Given the description of an element on the screen output the (x, y) to click on. 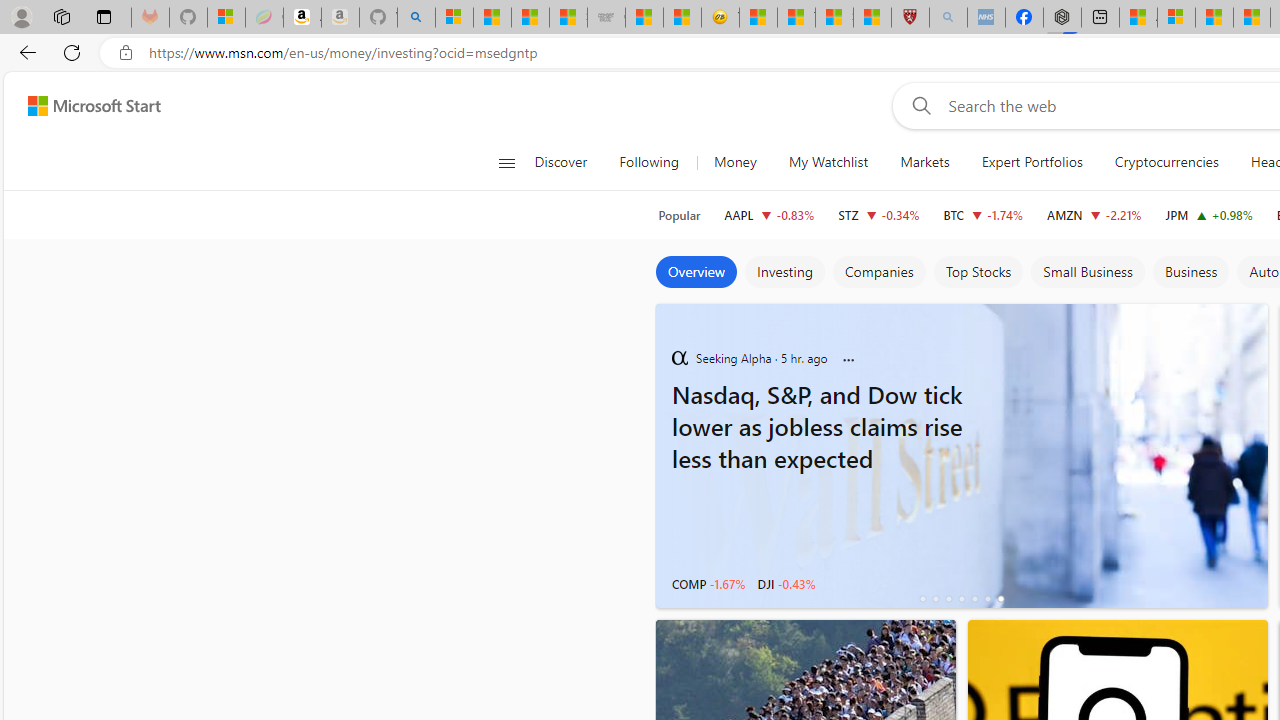
Microsoft-Report a Concern to Bing (225, 17)
Small Business (1087, 272)
Class: button-glyph (505, 162)
Expert Portfolios (1031, 162)
Discover (560, 162)
Investing (784, 272)
DJI -0.43% (786, 583)
My Watchlist (827, 162)
